Given the description of an element on the screen output the (x, y) to click on. 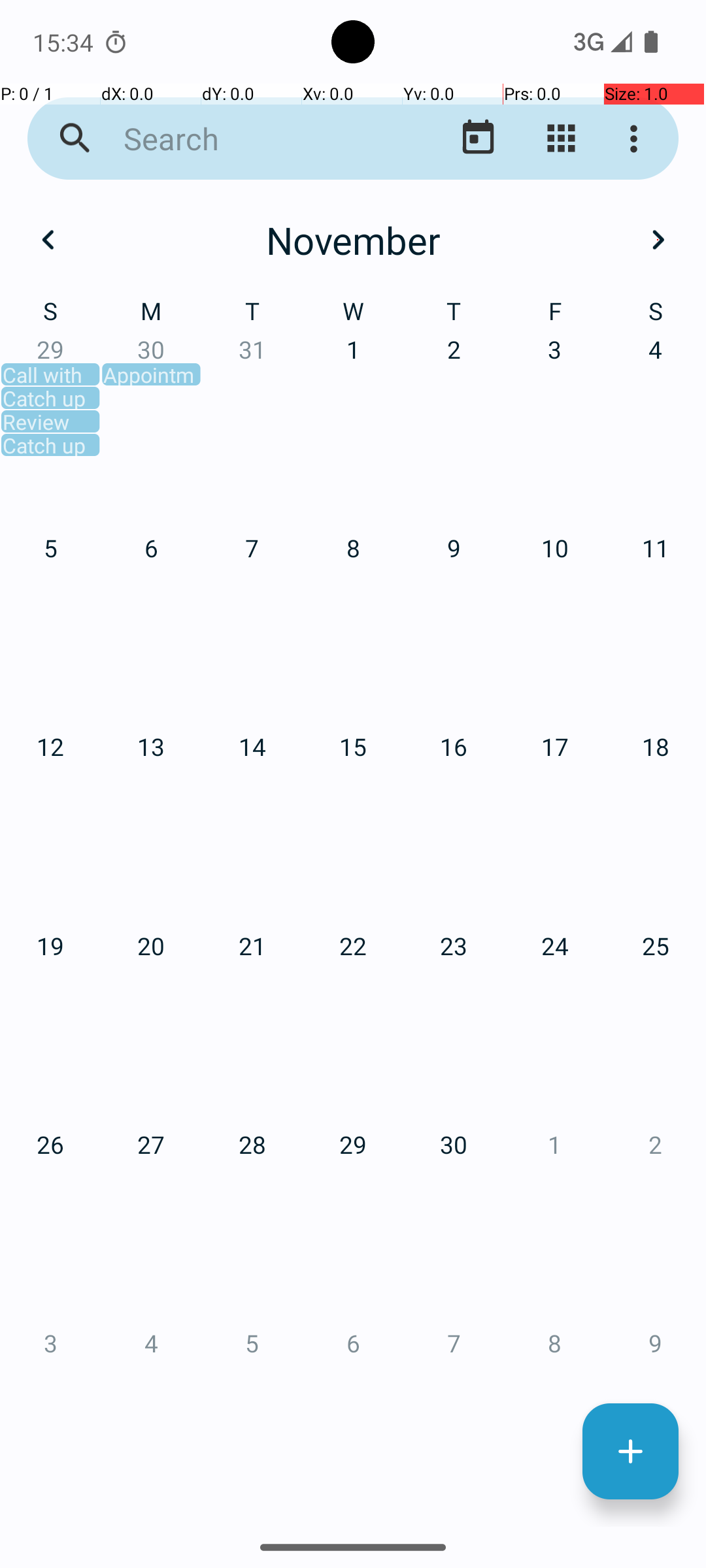
November Element type: android.widget.TextView (352, 239)
